Given the description of an element on the screen output the (x, y) to click on. 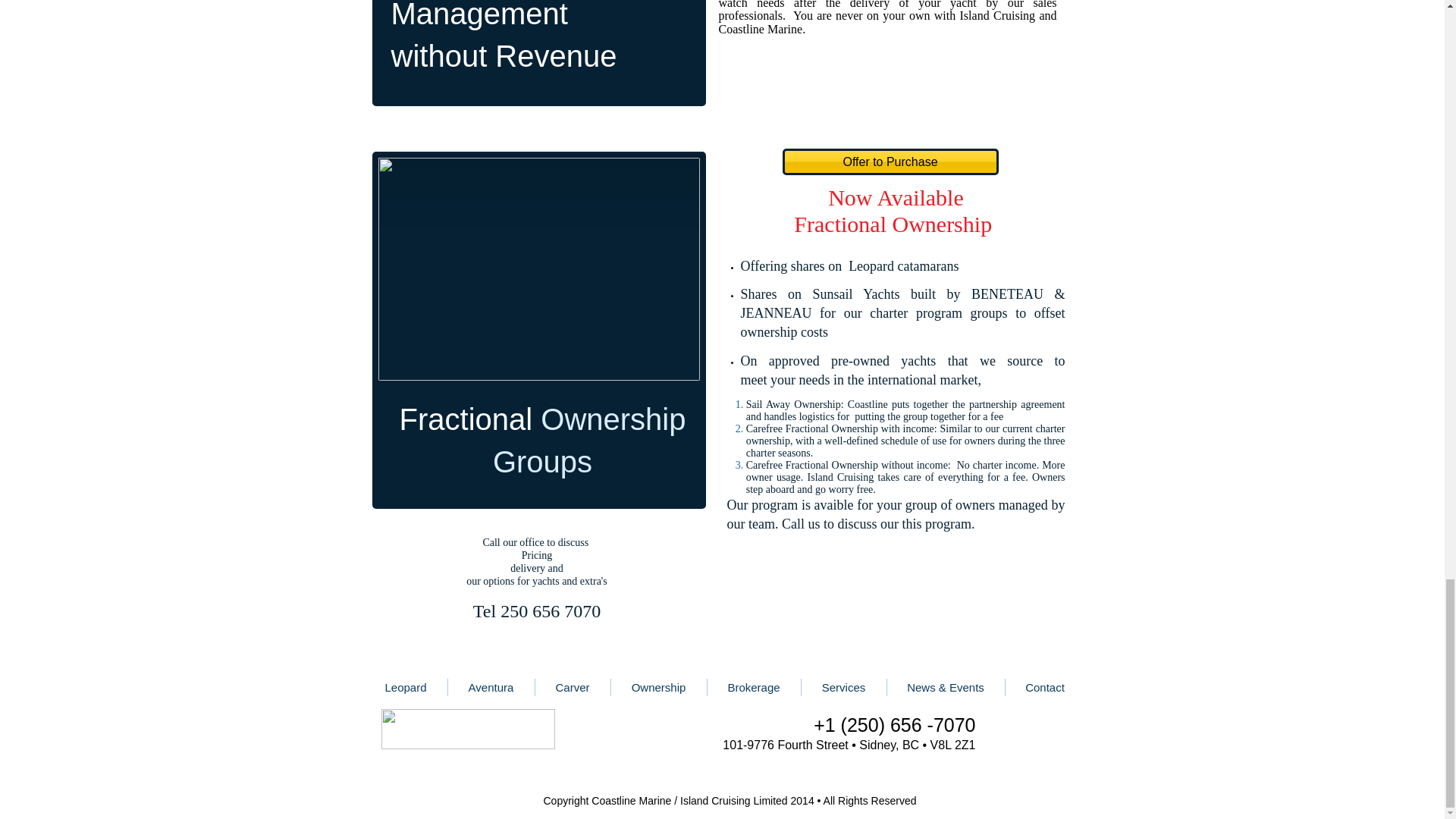
jeaaneau439f.jpg (538, 269)
